Given the description of an element on the screen output the (x, y) to click on. 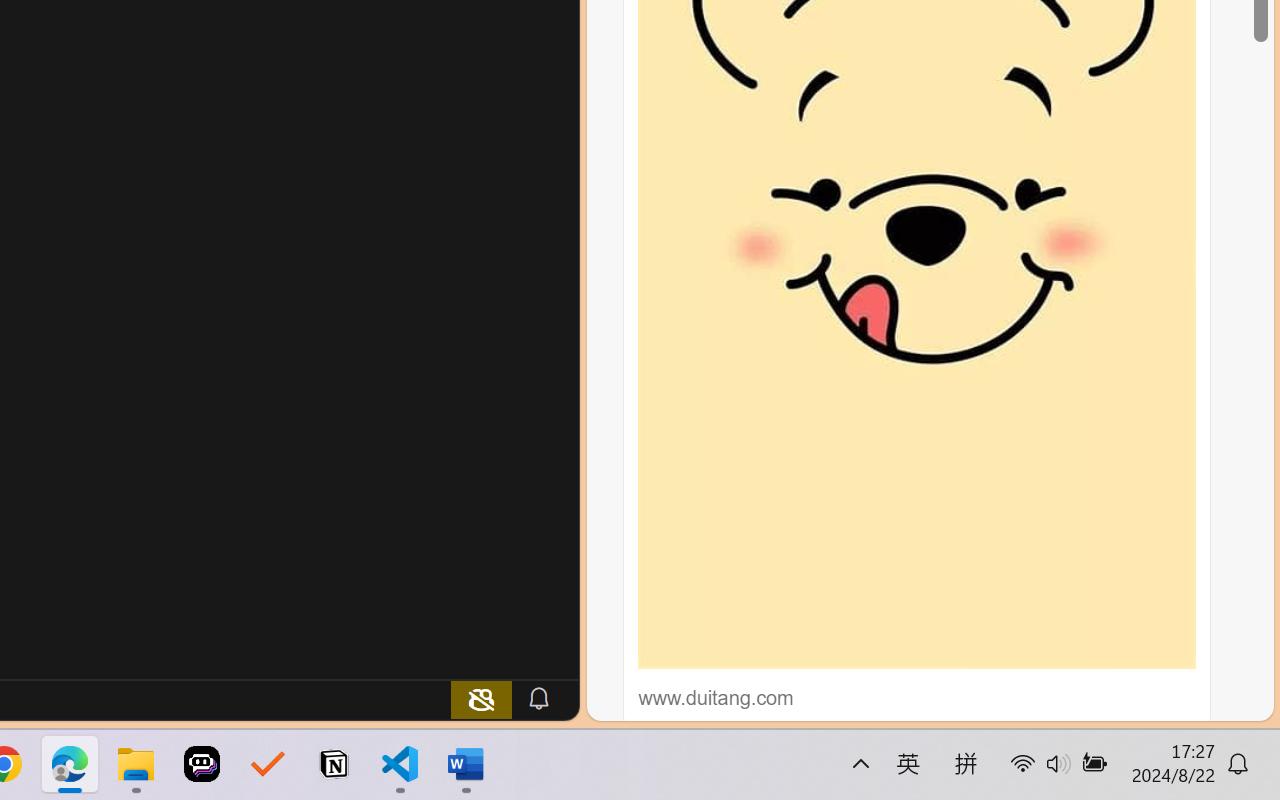
Notifications (537, 698)
copilot-notconnected, Copilot error (click for details) (481, 698)
